Given the description of an element on the screen output the (x, y) to click on. 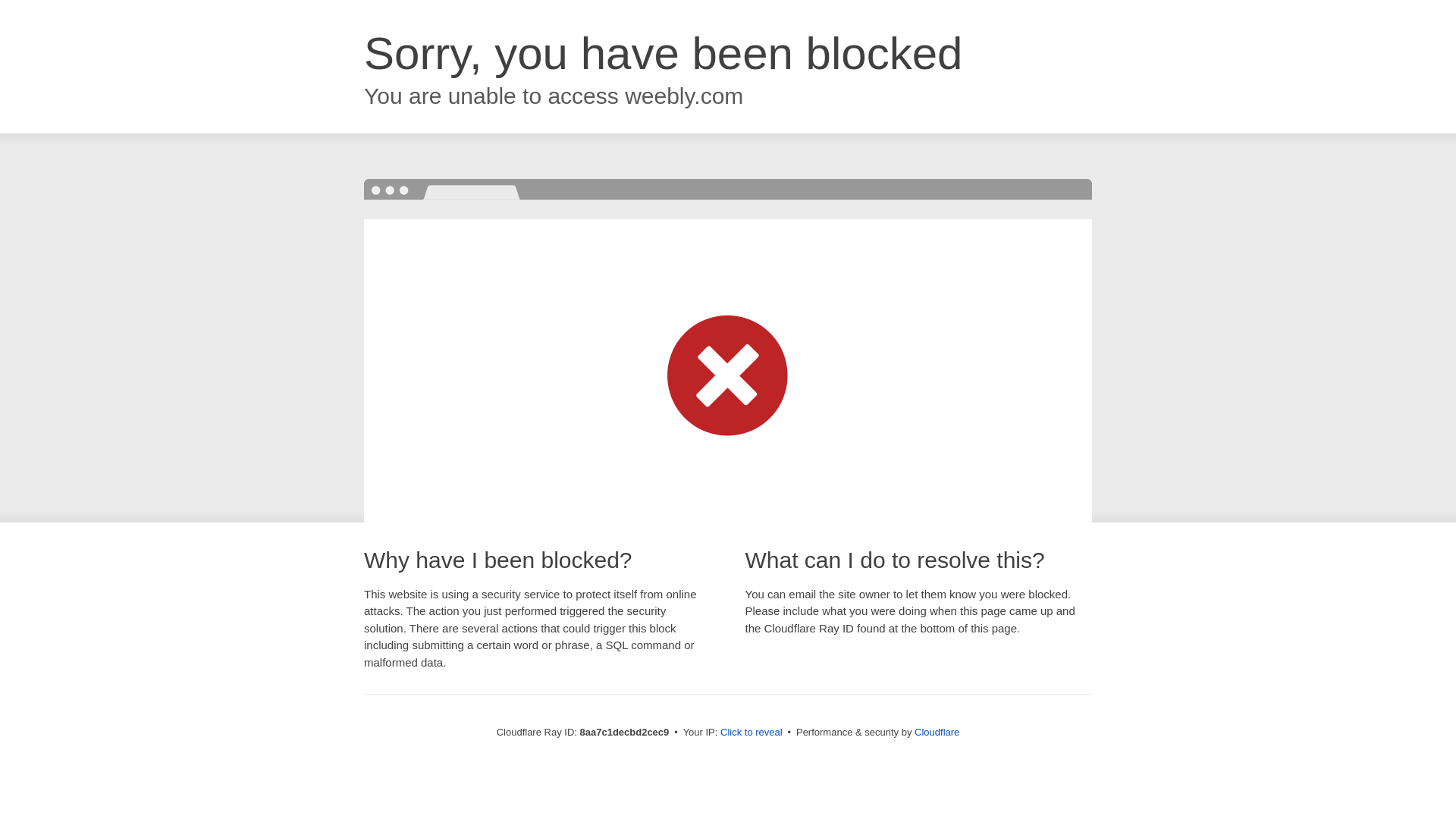
Cloudflare (936, 731)
Click to reveal (751, 732)
